Given the description of an element on the screen output the (x, y) to click on. 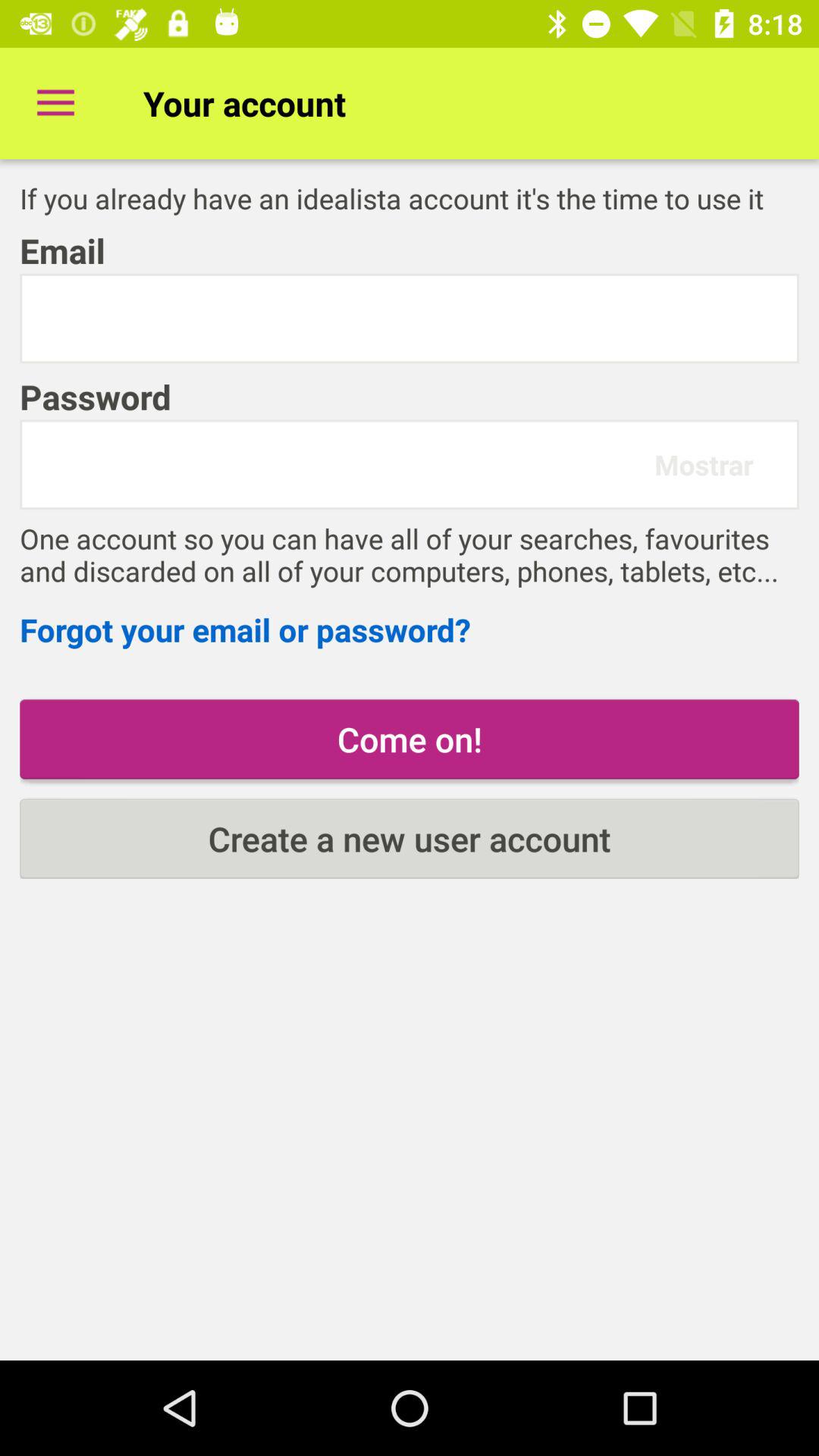
swipe until mostrar (703, 464)
